Given the description of an element on the screen output the (x, y) to click on. 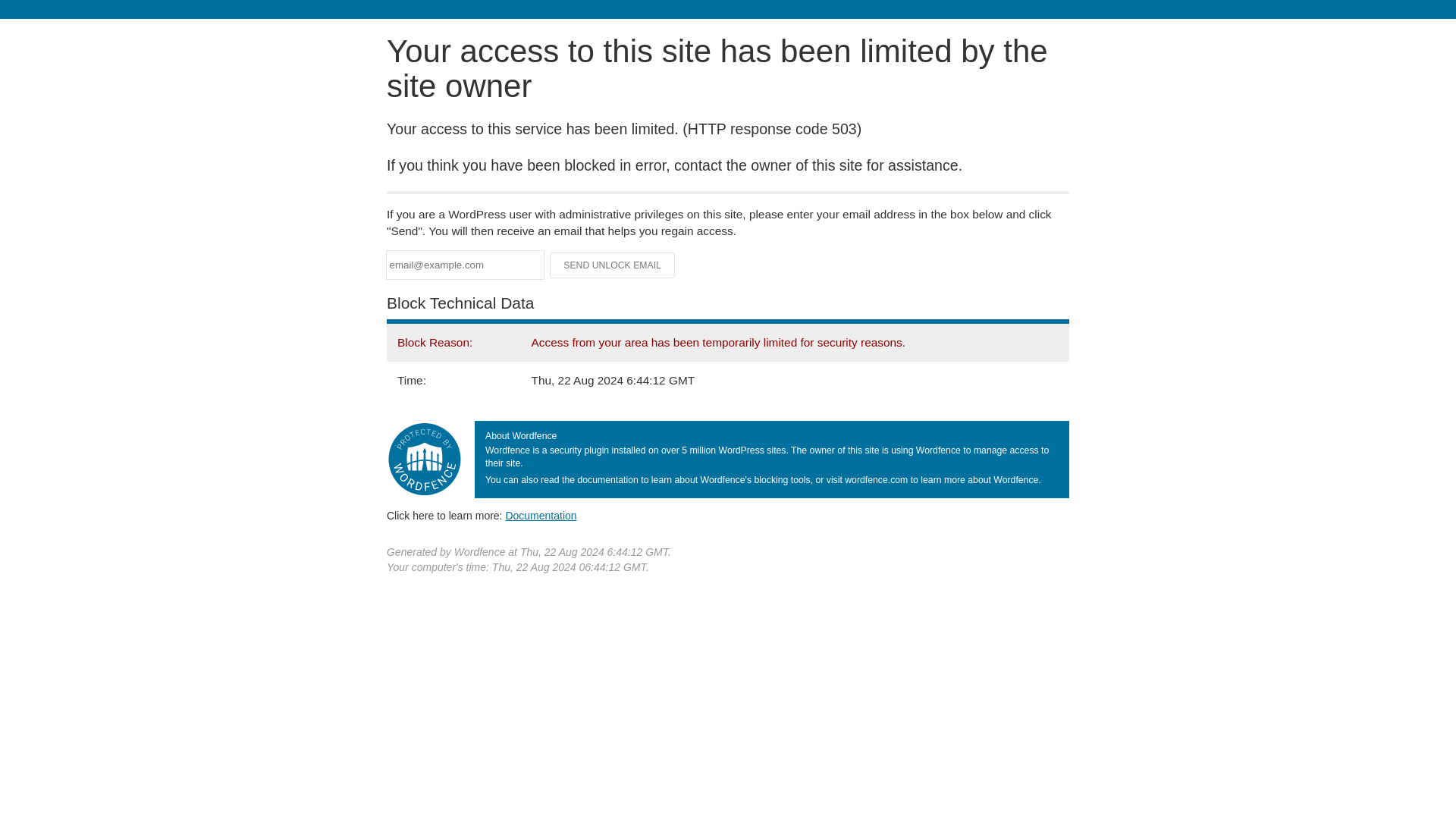
Send Unlock Email (612, 265)
Documentation (540, 515)
Send Unlock Email (612, 265)
